Given the description of an element on the screen output the (x, y) to click on. 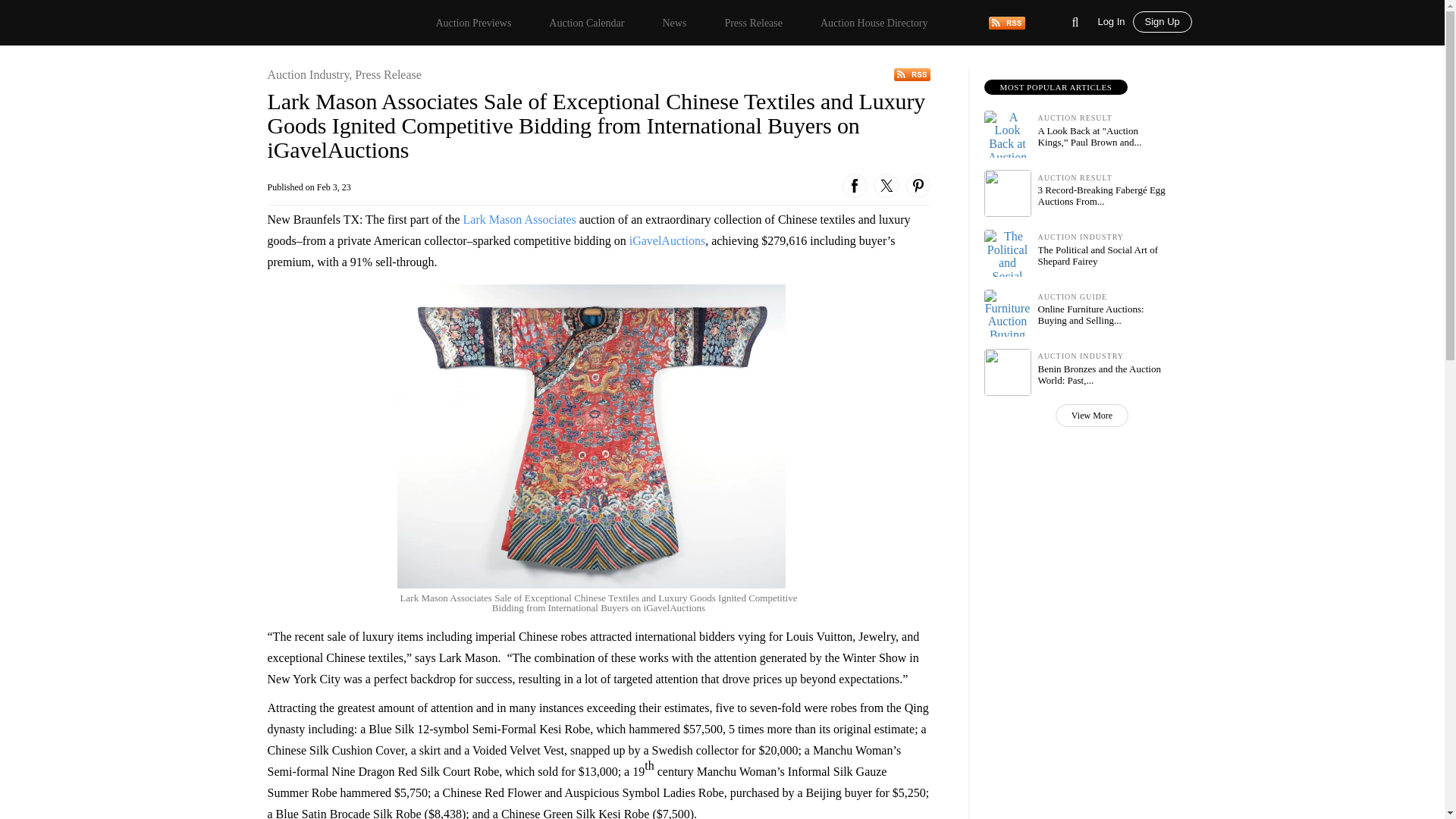
View Our News Feed (1006, 21)
Press Release (753, 22)
View Our News Feed (911, 74)
Lark Mason Associates (519, 219)
Log In (1114, 20)
iGavelAuction (664, 240)
Sign Up (1162, 21)
News (673, 22)
Auction House Directory (874, 22)
Auction Calendar (586, 22)
